Given the description of an element on the screen output the (x, y) to click on. 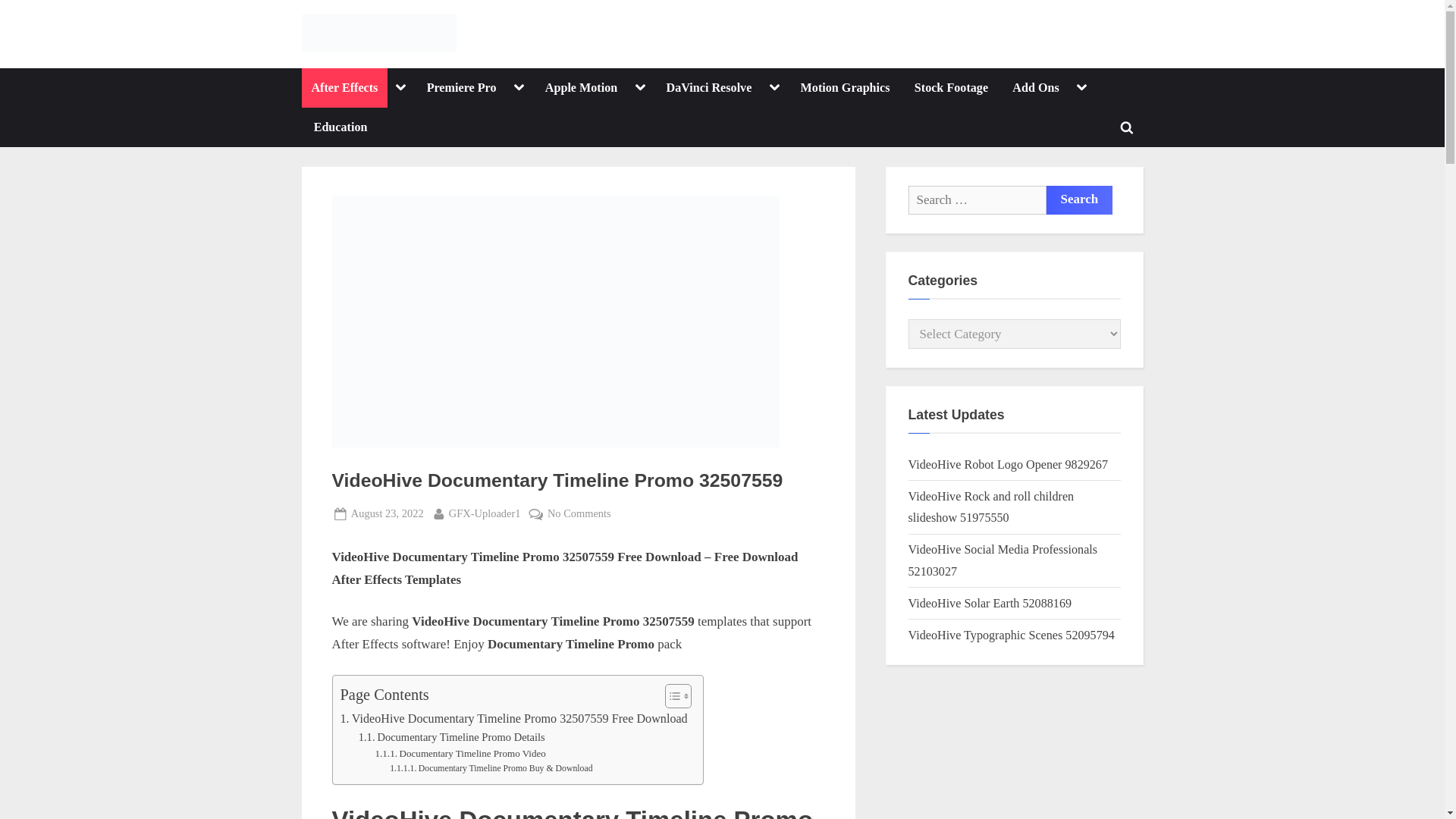
Toggle sub-menu (774, 87)
Documentary Timeline Promo Video (460, 754)
Premiere Pro (461, 87)
Search (1079, 199)
Toggle sub-menu (400, 87)
Apple Motion (581, 87)
GFXDownload.Net (524, 44)
Documentary Timeline Promo Details (451, 737)
VideoHive Documentary Timeline Promo 32507559 Free Download (513, 718)
Toggle sub-menu (639, 87)
Toggle sub-menu (517, 87)
Search (1079, 199)
After Effects (344, 87)
DaVinci Resolve (708, 87)
